Given the description of an element on the screen output the (x, y) to click on. 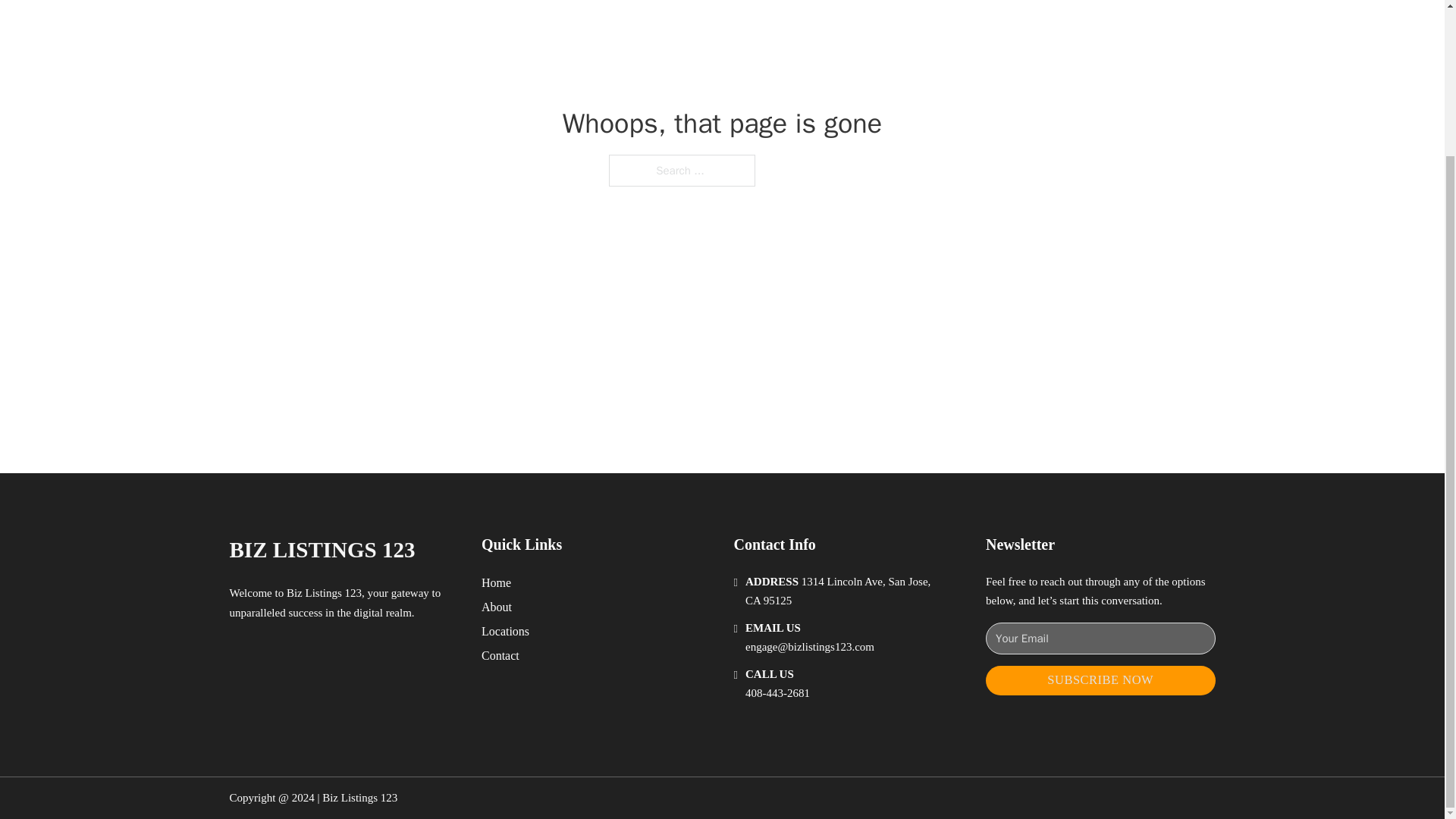
SUBSCRIBE NOW (1100, 680)
408-443-2681 (777, 693)
About (496, 607)
BIZ LISTINGS 123 (321, 549)
Home (496, 582)
Locations (505, 630)
Contact (500, 655)
